Given the description of an element on the screen output the (x, y) to click on. 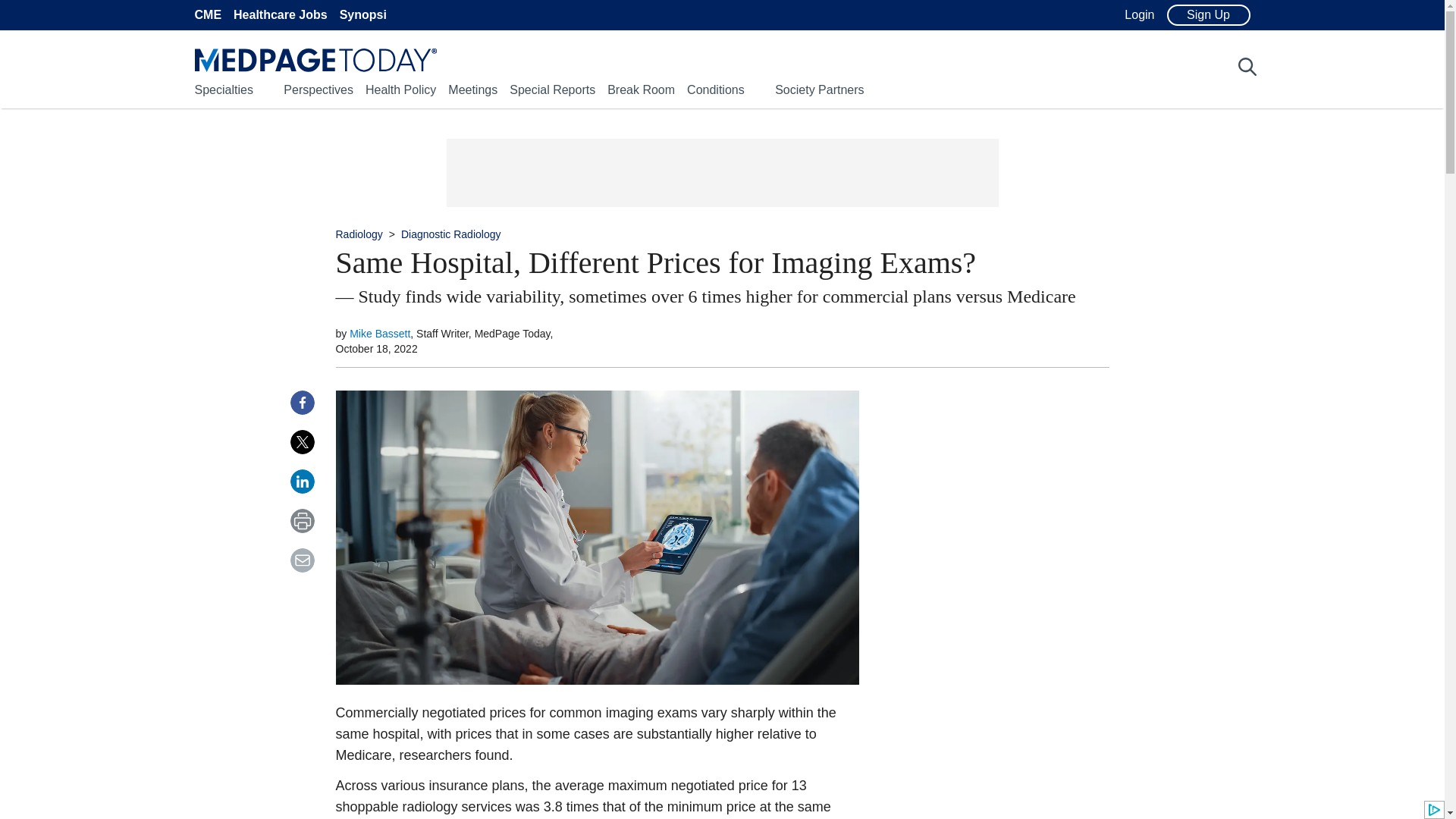
CME (207, 15)
Synopsi (363, 15)
Share on X. Opens in a new tab or window (301, 441)
Healthcare Jobs (279, 15)
Share on Facebook. Opens in a new tab or window (301, 402)
Share on LinkedIn. Opens in a new tab or window (301, 481)
Specialties (222, 89)
